Given the description of an element on the screen output the (x, y) to click on. 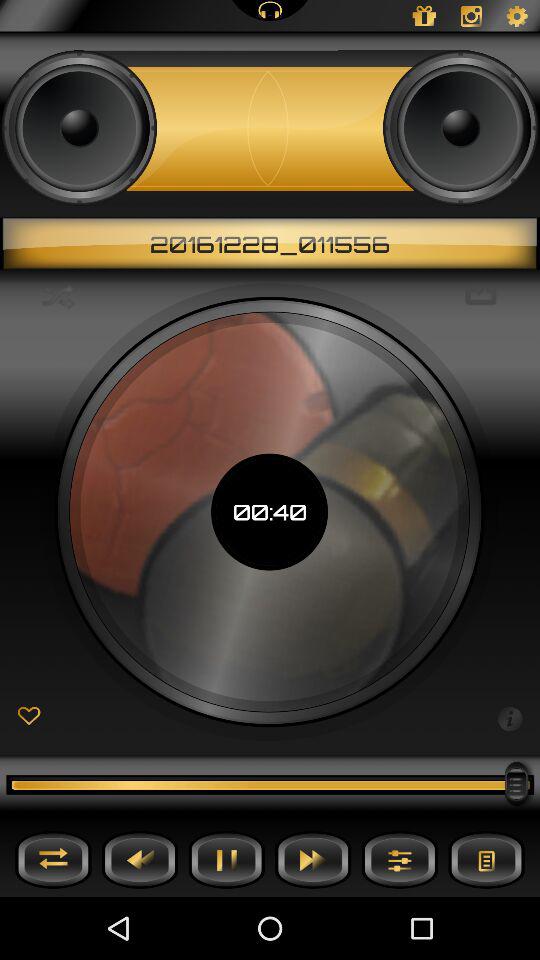
more information (509, 717)
